Given the description of an element on the screen output the (x, y) to click on. 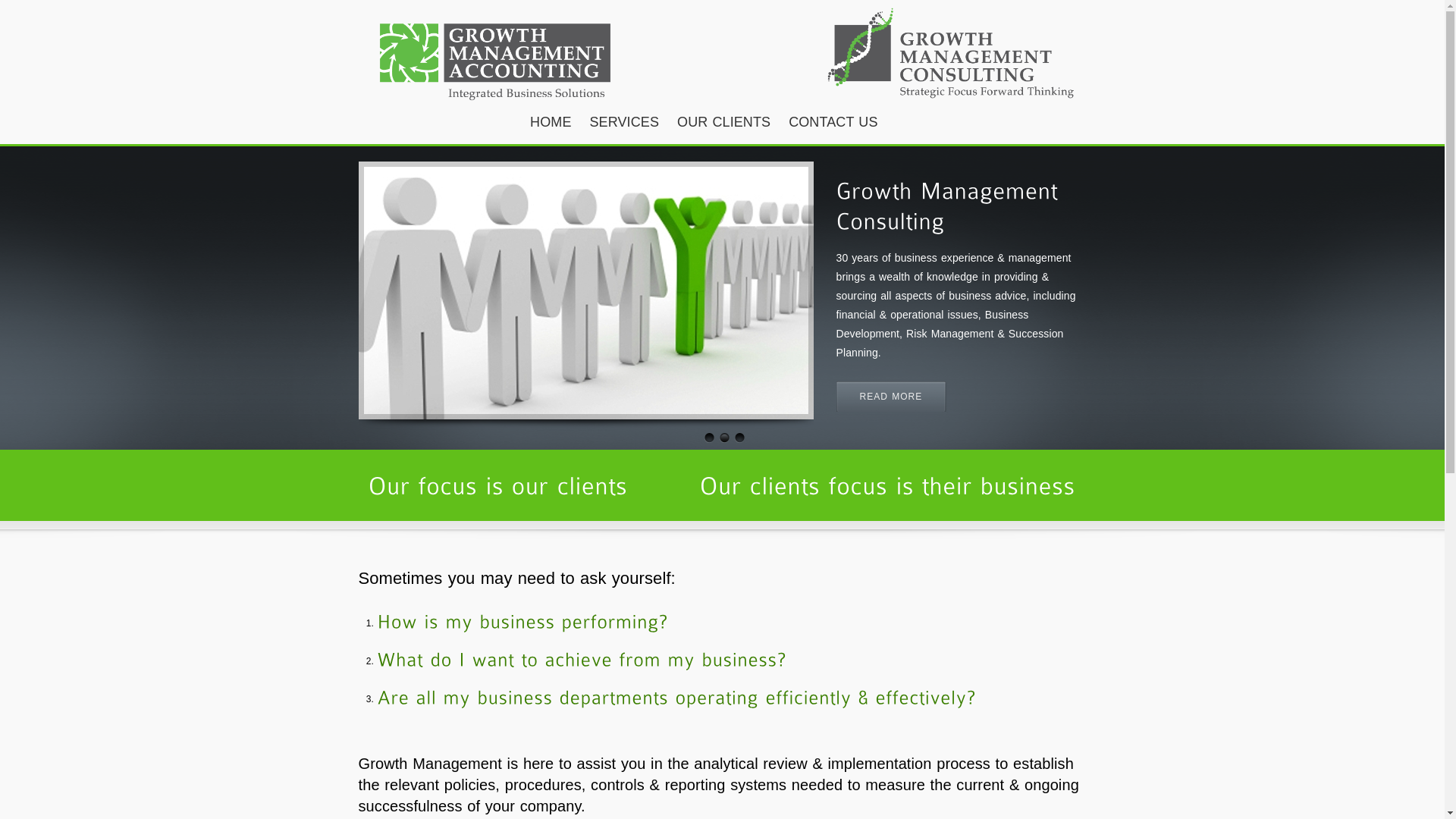
CONTACT US Element type: text (832, 122)
READ MORE Element type: text (890, 396)
HOME Element type: text (550, 122)
SERVICES Element type: text (624, 122)
OUR CLIENTS Element type: text (723, 122)
